Given the description of an element on the screen output the (x, y) to click on. 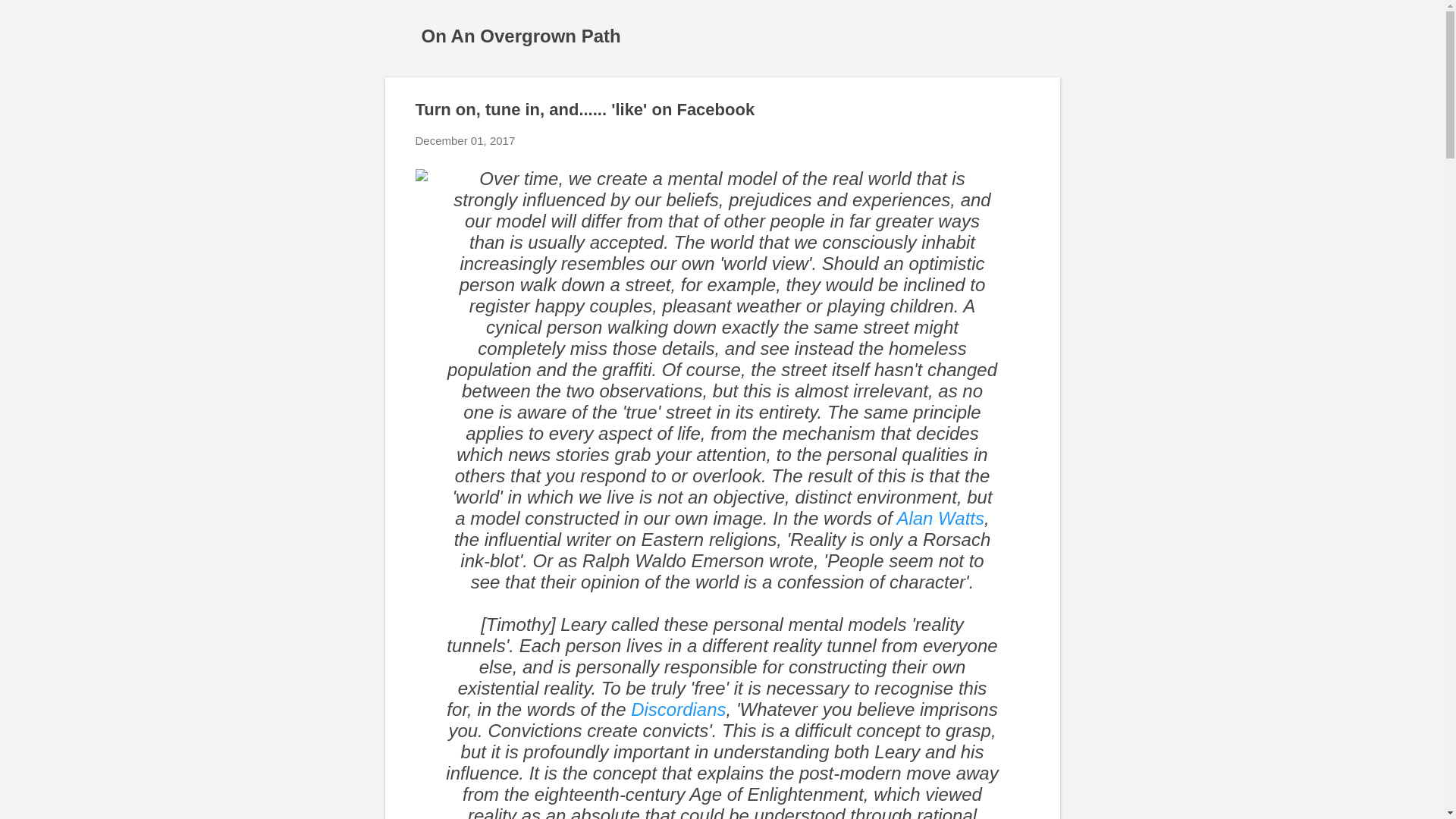
permanent link (464, 140)
Discordians (677, 709)
Alan Watts (940, 517)
December 01, 2017 (464, 140)
On An Overgrown Path (521, 35)
Search (29, 18)
